Given the description of an element on the screen output the (x, y) to click on. 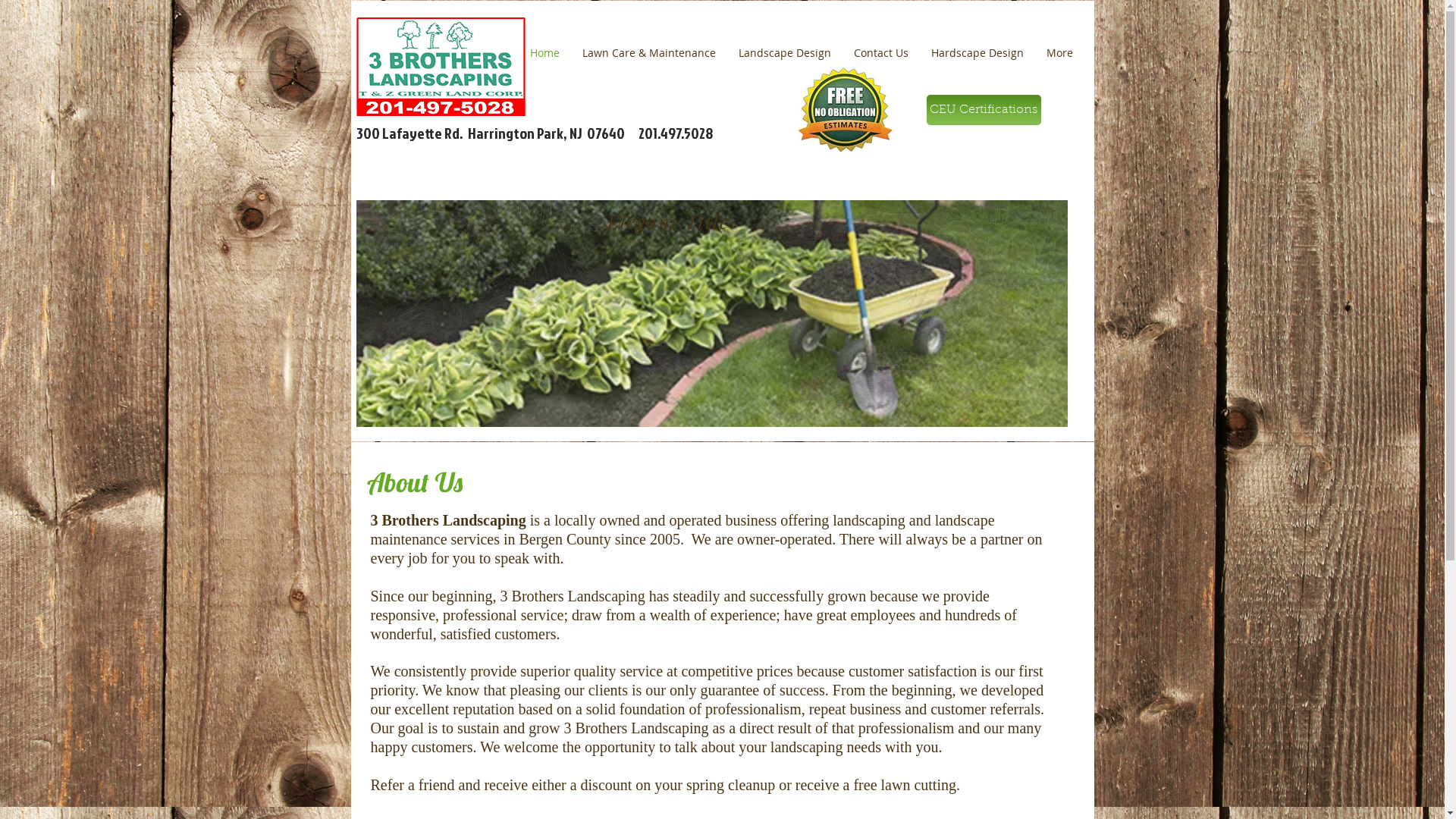
Landscape Design Element type: text (783, 52)
Lawn Care & Maintenance Element type: text (648, 52)
Home Element type: text (544, 52)
CEU Certifications Element type: text (983, 109)
Contact Us Element type: text (880, 52)
Hardscape Design Element type: text (976, 52)
